Given the description of an element on the screen output the (x, y) to click on. 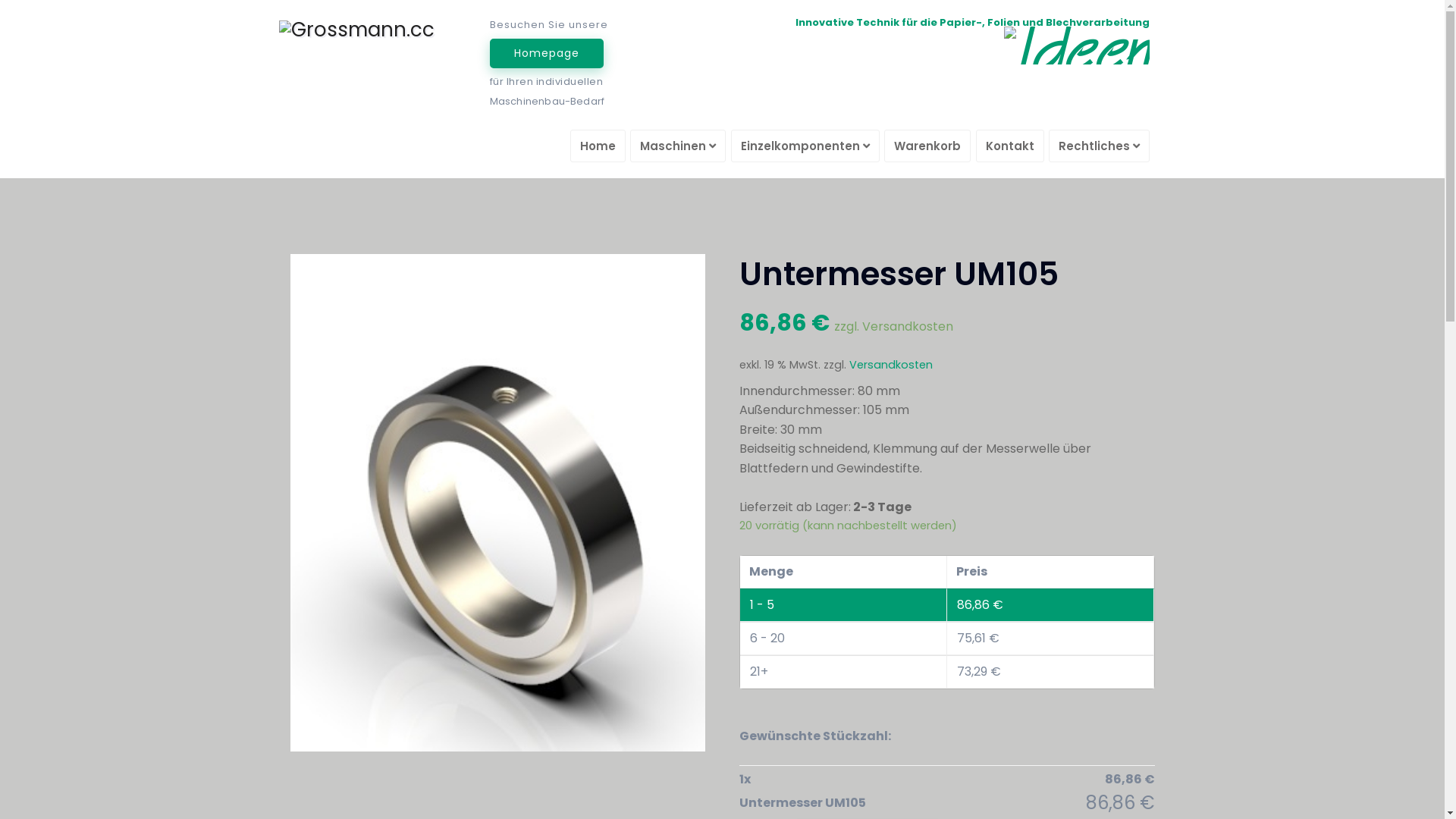
Homepage Element type: text (546, 53)
Warenkorb Element type: text (927, 145)
Rechtliches Element type: text (1098, 145)
Maschinen Element type: text (677, 145)
Home Element type: text (597, 145)
Homepage Element type: text (546, 53)
Kontakt Element type: text (1009, 145)
Einzelkomponenten Element type: text (805, 145)
Versandkosten Element type: text (890, 364)
UM105 Element type: hover (496, 503)
